Given the description of an element on the screen output the (x, y) to click on. 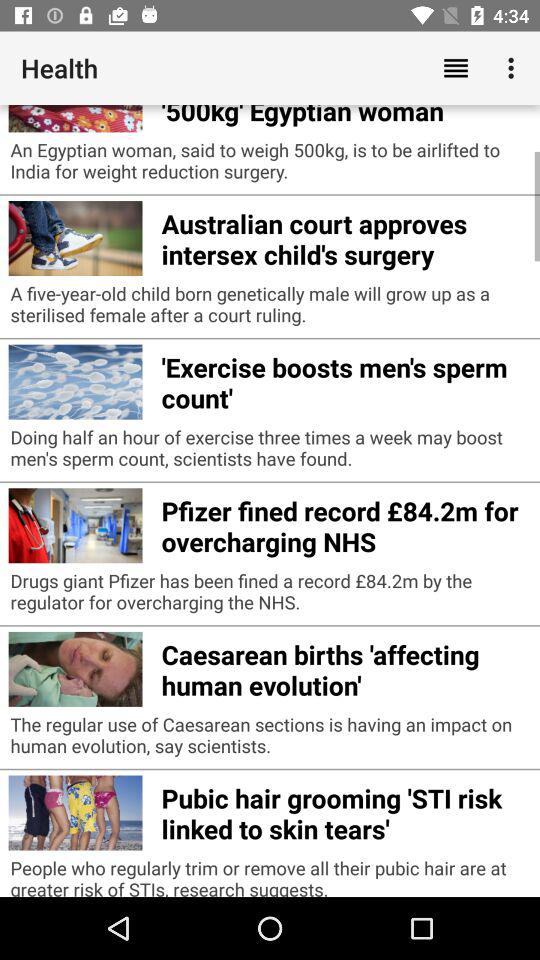
jump to caesarean births affecting (345, 667)
